Given the description of an element on the screen output the (x, y) to click on. 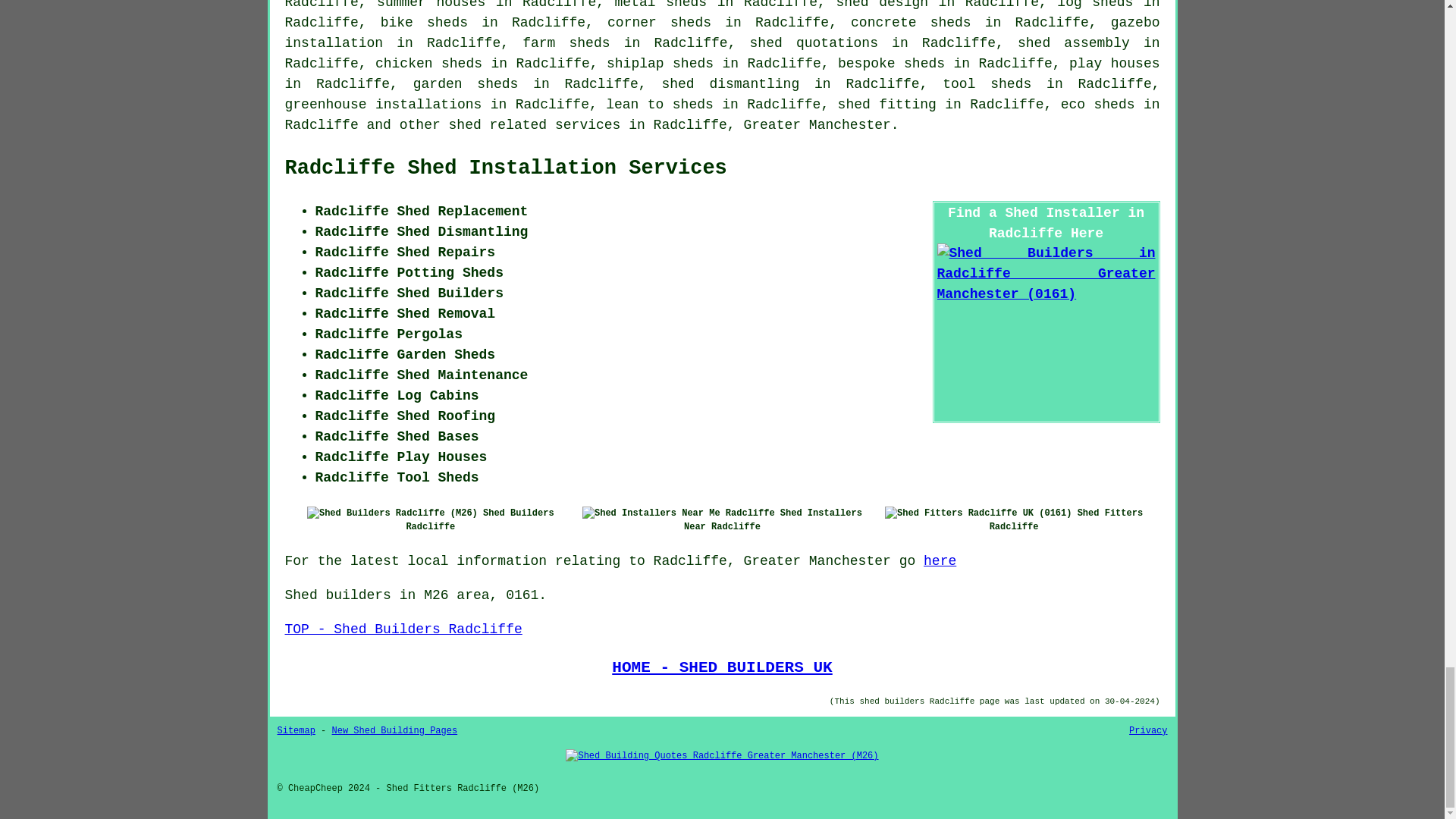
Shed Installers Near Me Radcliffe (678, 513)
